Given the description of an element on the screen output the (x, y) to click on. 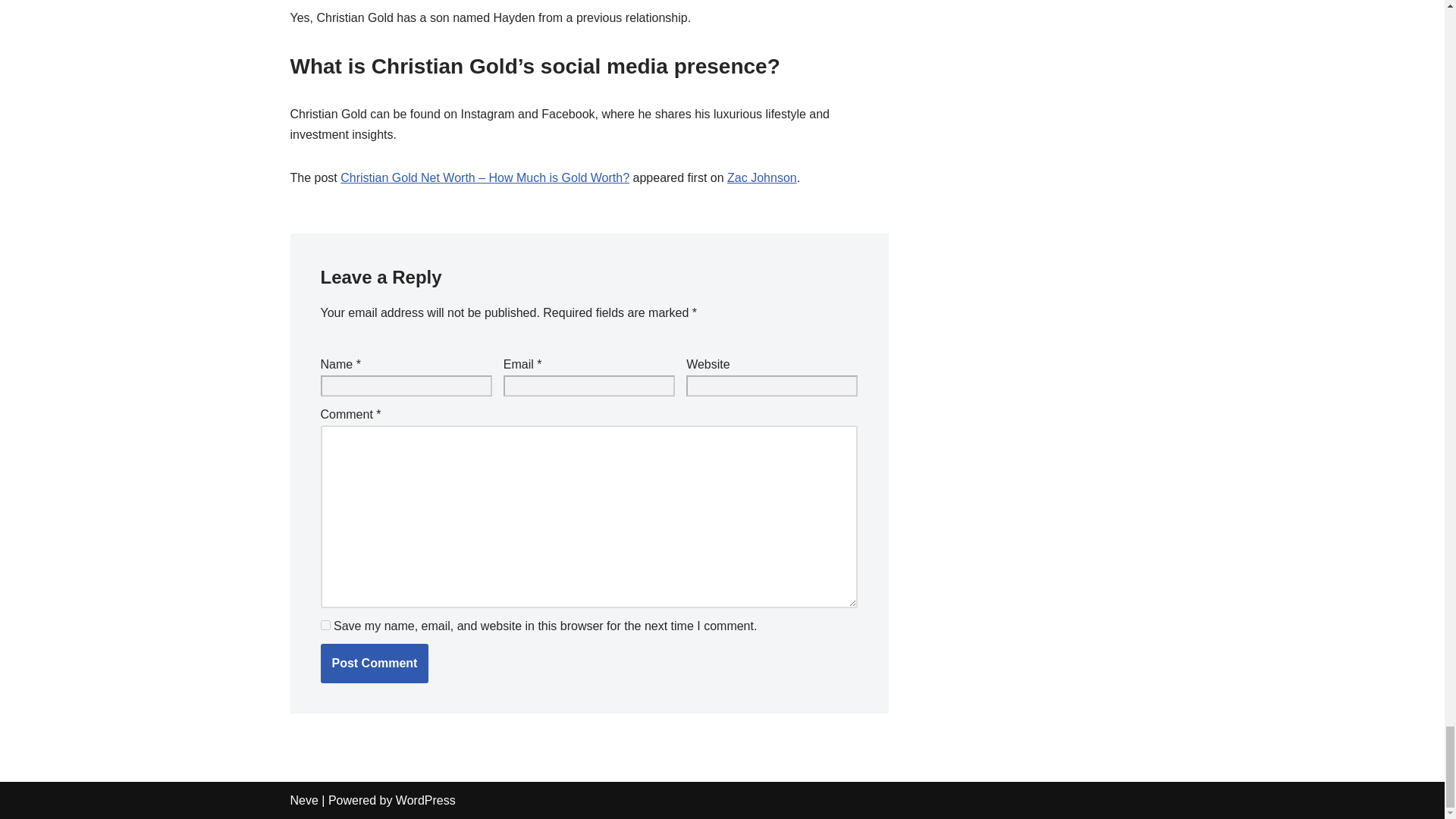
Post Comment (374, 663)
Neve (303, 799)
Post Comment (374, 663)
WordPress (425, 799)
yes (325, 624)
Zac Johnson (761, 177)
